Given the description of an element on the screen output the (x, y) to click on. 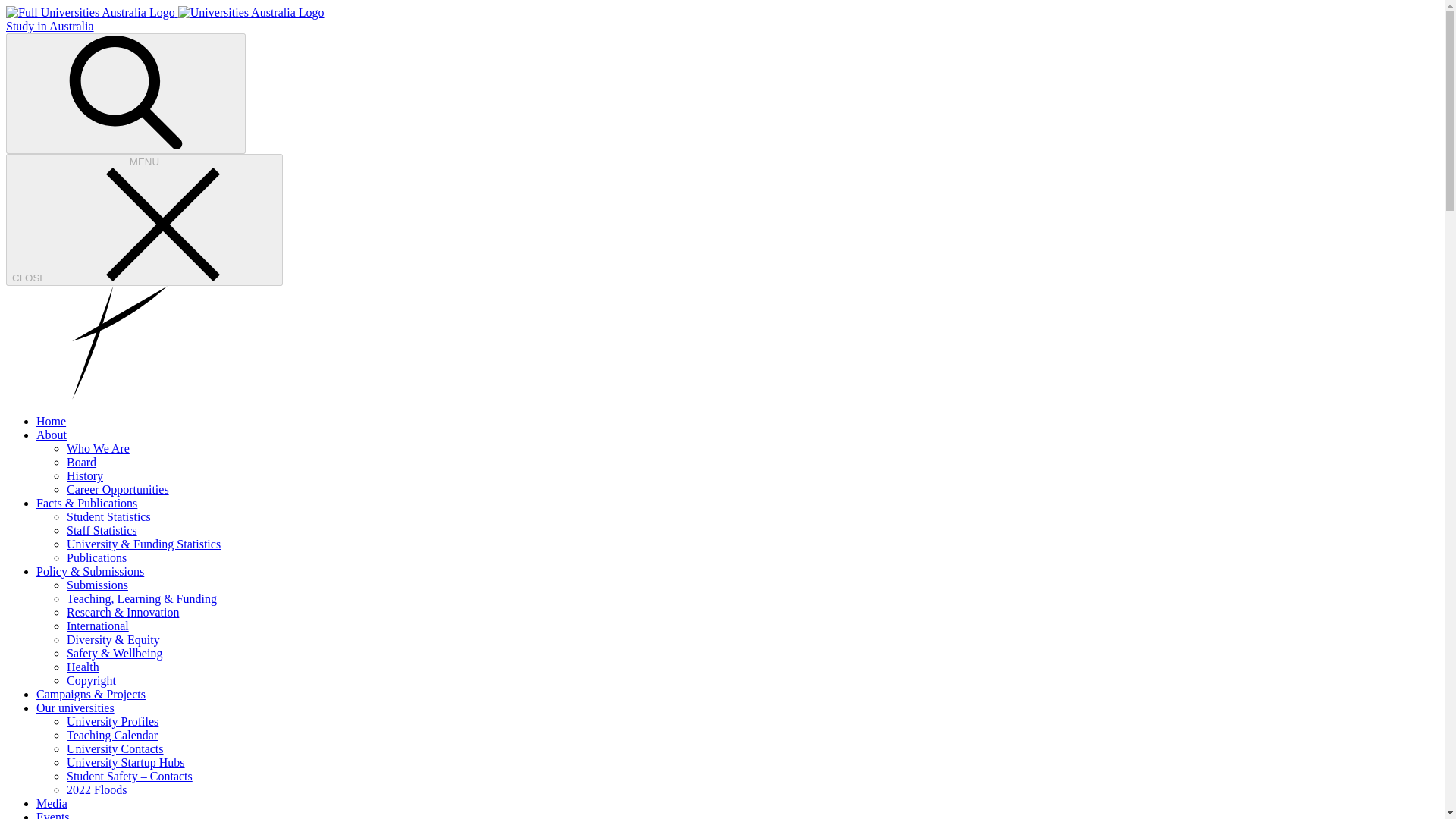
Copyright (91, 680)
Publications (96, 557)
About (51, 434)
Student Statistics (108, 516)
Media (51, 802)
Who We Are (97, 448)
Board (81, 461)
Home (50, 420)
Submissions (97, 584)
International (97, 625)
